Given the description of an element on the screen output the (x, y) to click on. 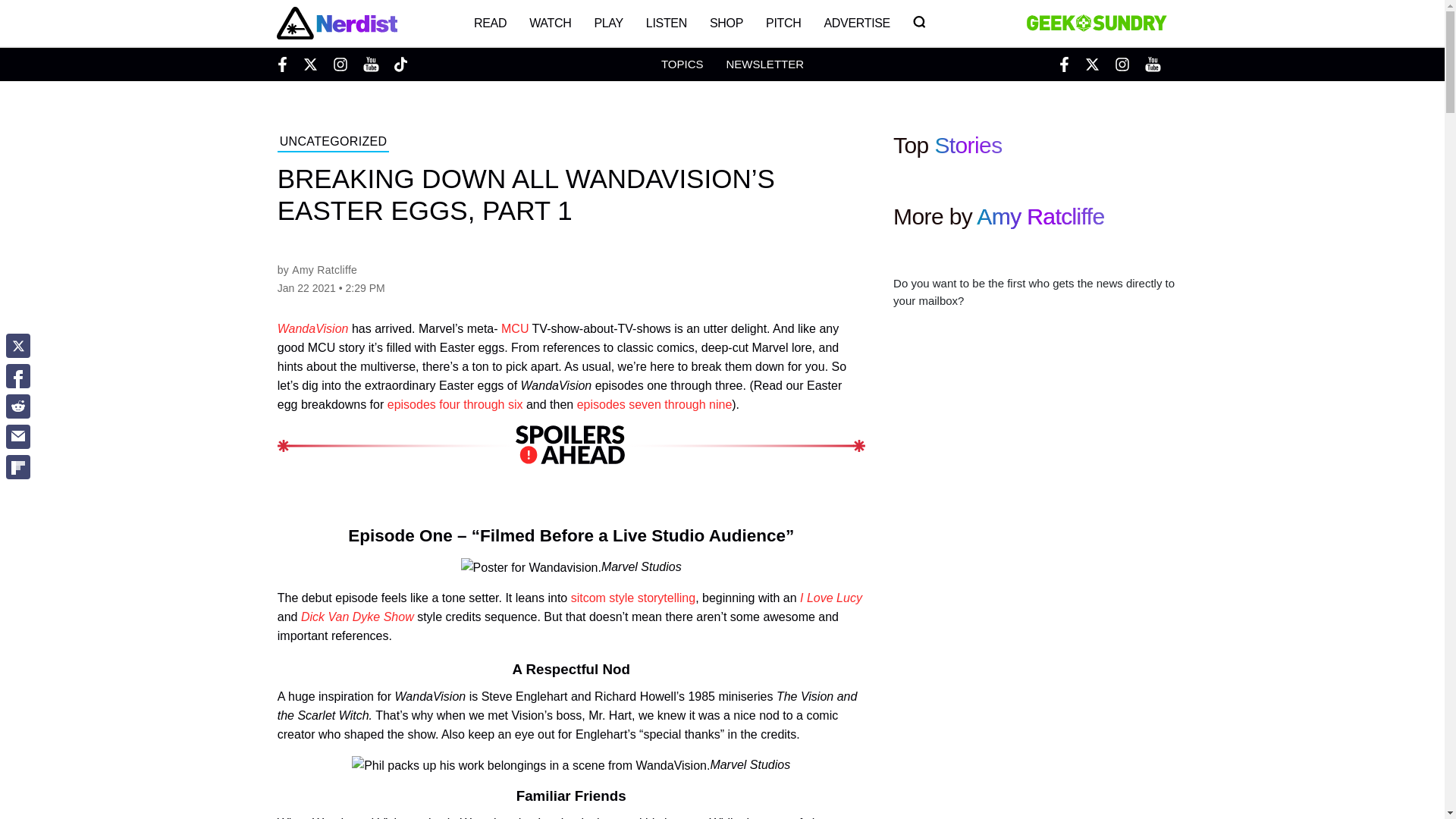
Twitter Nerdist (309, 63)
sitcom style storytelling (632, 597)
LISTEN (666, 22)
Topics (681, 63)
PITCH (783, 22)
READ (490, 22)
SHOP (726, 22)
WATCH (550, 22)
PLAY (607, 22)
NEWSLETTER (764, 63)
